Given the description of an element on the screen output the (x, y) to click on. 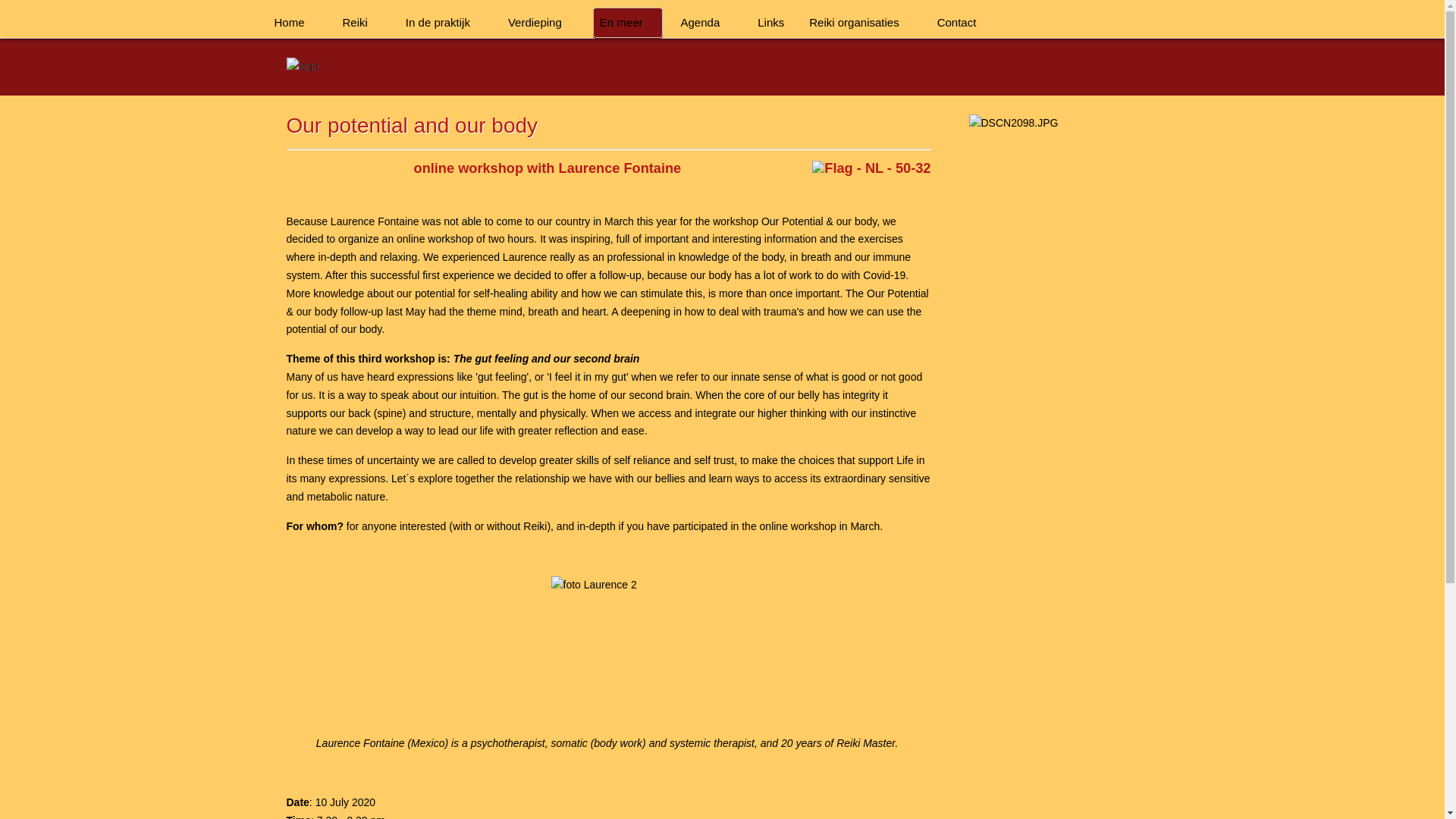
Home (295, 22)
In de praktijk (443, 22)
Reiki (361, 22)
Verdieping (541, 22)
